Given the description of an element on the screen output the (x, y) to click on. 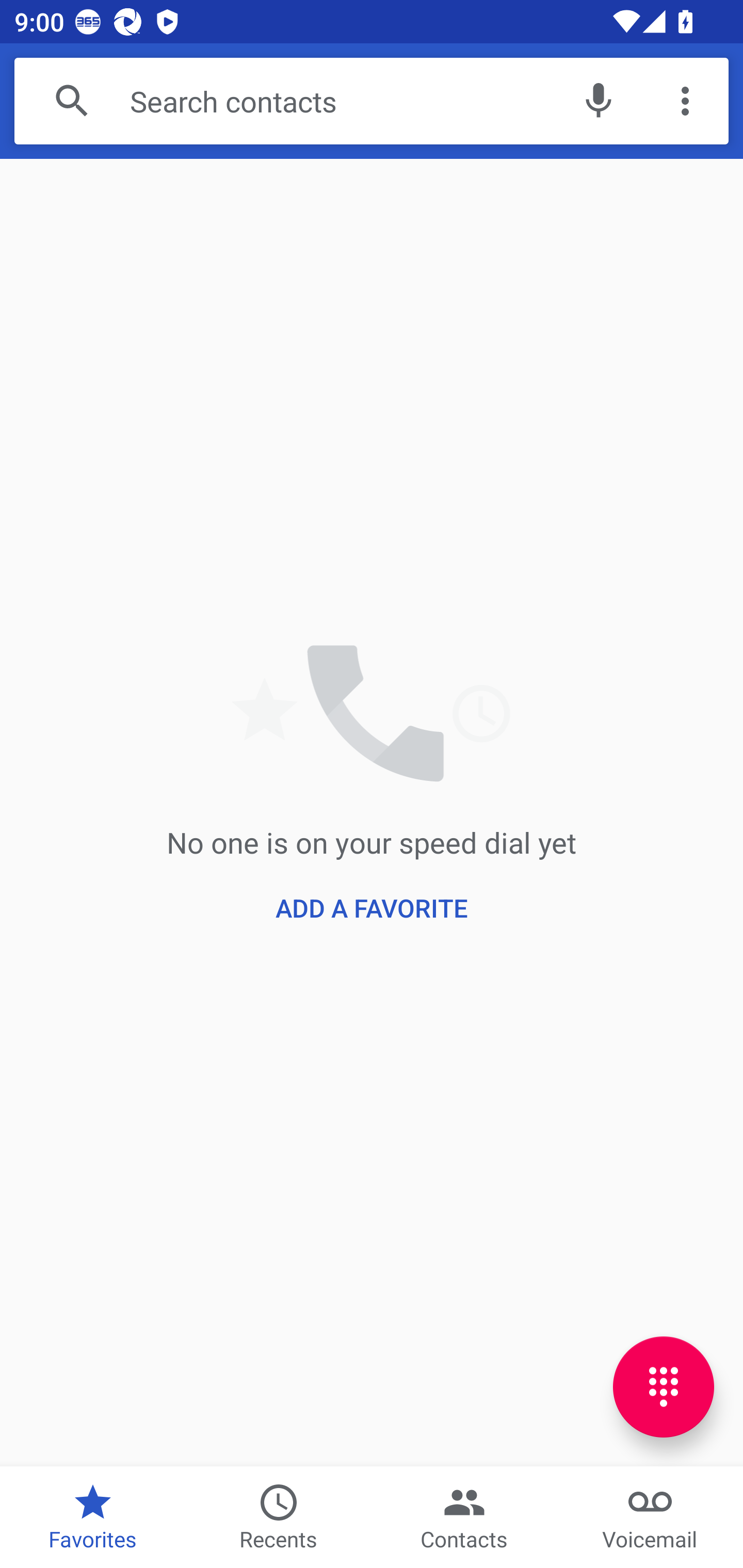
Search contacts Start voice search More options (371, 101)
Start voice search (598, 101)
More options (684, 101)
No one is on your speed dial yet ADD A FAVORITE (371, 812)
ADD A FAVORITE (371, 907)
key pad (663, 1386)
Favorites (92, 1517)
Recents (278, 1517)
Contacts (464, 1517)
Voicemail (650, 1517)
